Given the description of an element on the screen output the (x, y) to click on. 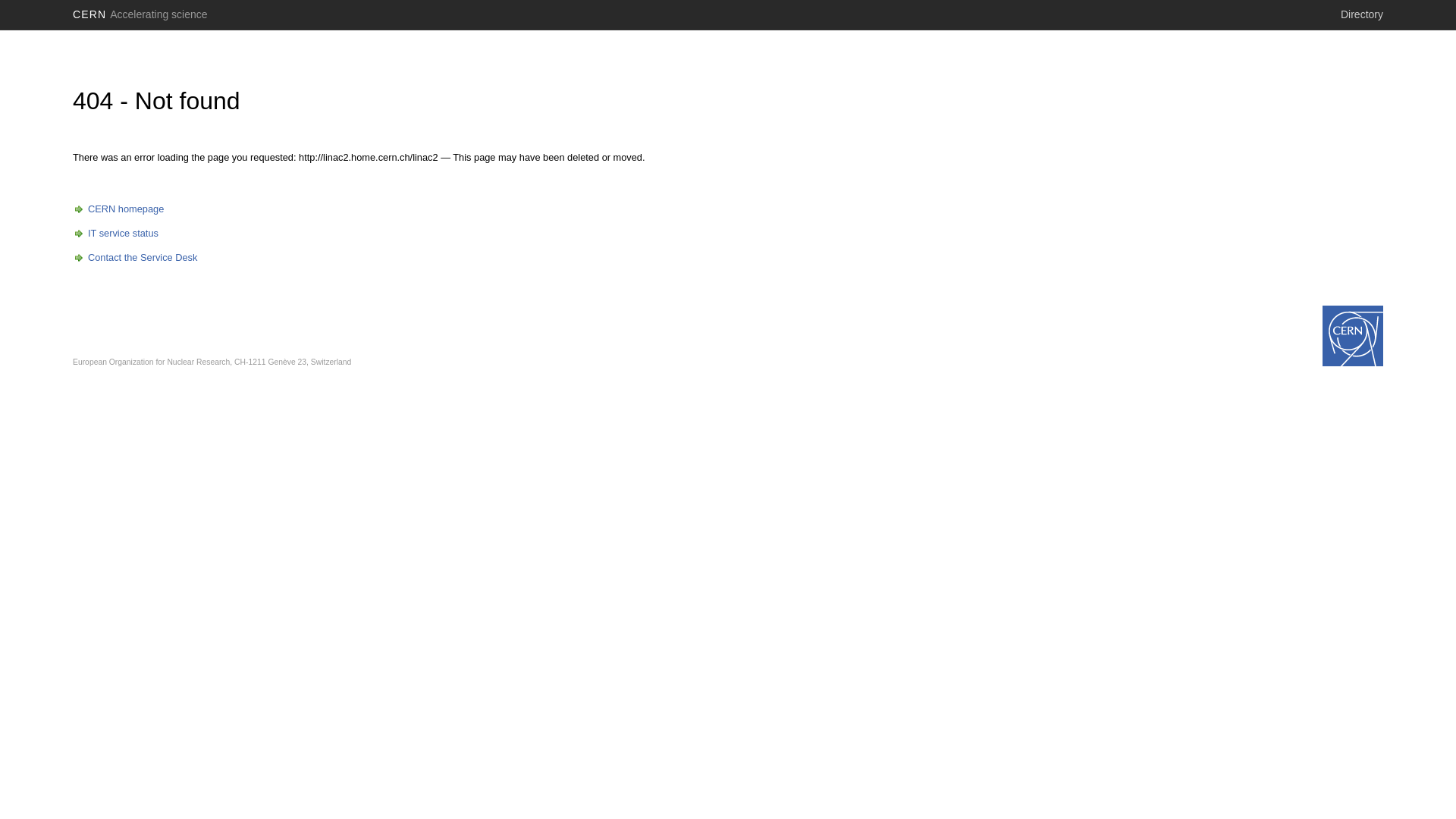
CERN homepage Element type: text (117, 208)
CERN Accelerating science Element type: text (139, 14)
IT service status Element type: text (115, 232)
Directory Element type: text (1361, 14)
Contact the Service Desk Element type: text (134, 257)
home.cern Element type: hover (1352, 335)
